Given the description of an element on the screen output the (x, y) to click on. 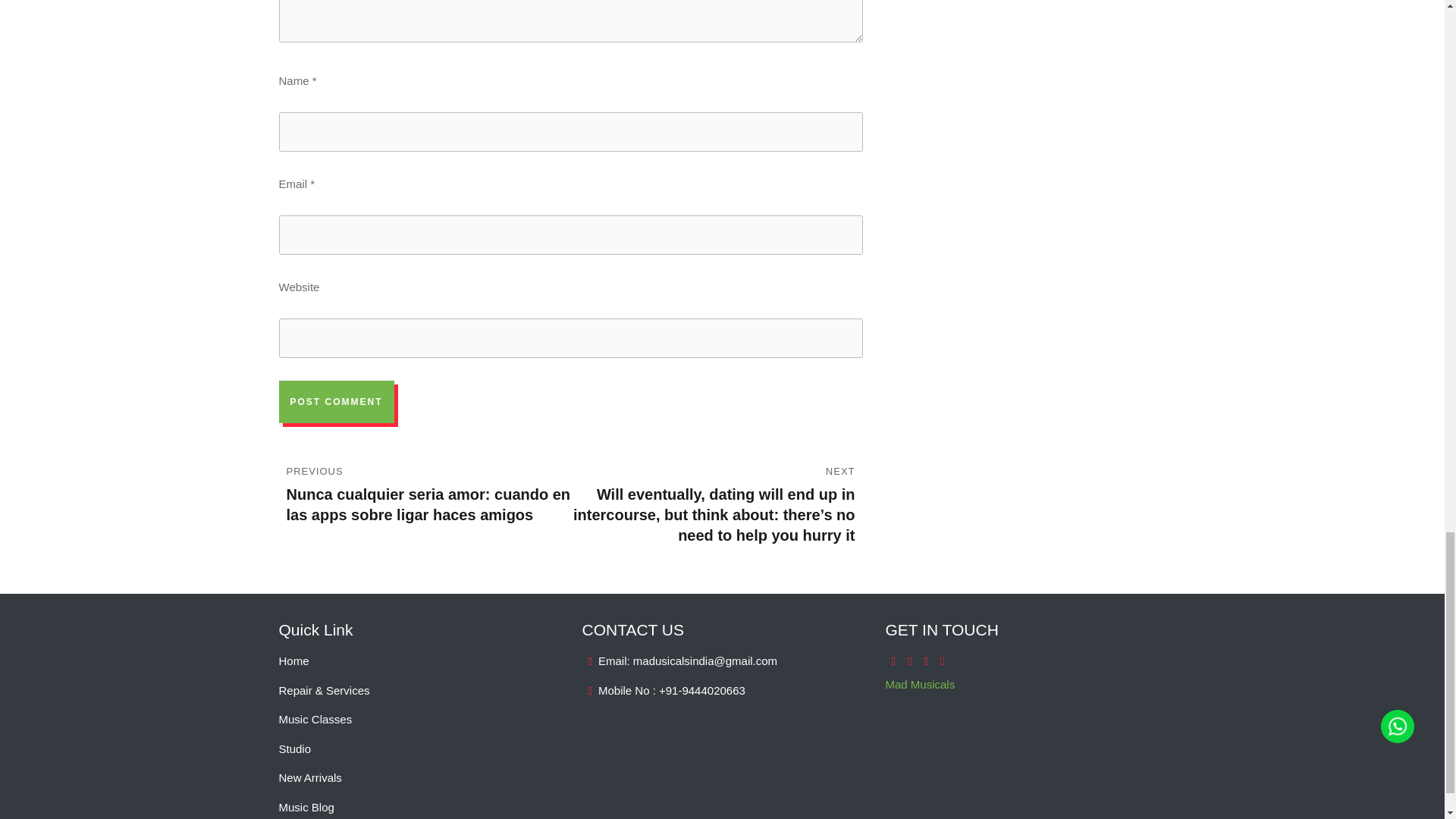
Post Comment (336, 401)
Post Comment (336, 401)
